Given the description of an element on the screen output the (x, y) to click on. 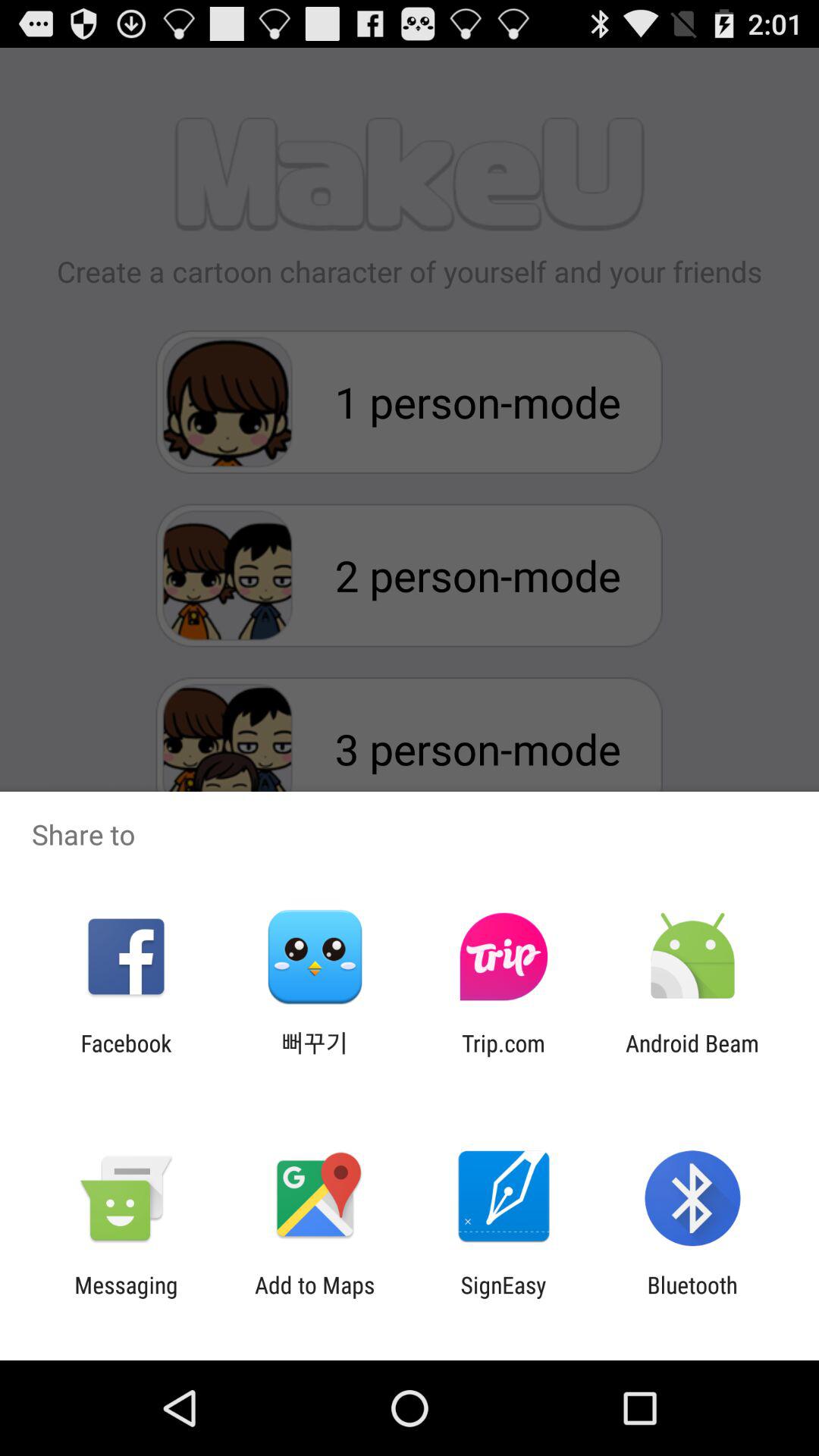
select icon next to the messaging (314, 1298)
